Given the description of an element on the screen output the (x, y) to click on. 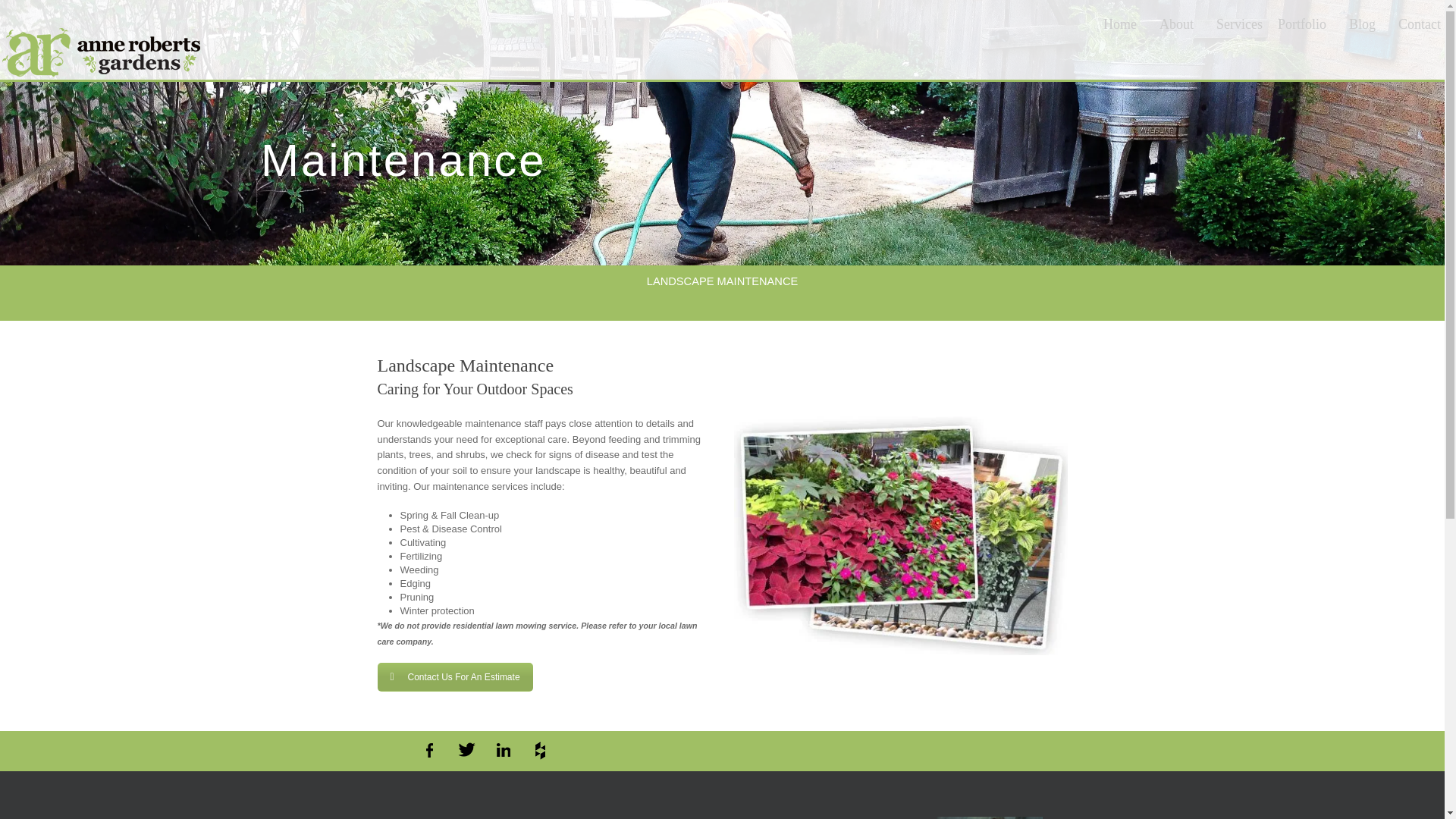
Services (1235, 33)
Contact Us For An Estimate (454, 676)
Portfolio (1302, 33)
Blog (1362, 33)
About (1176, 33)
Home (1120, 33)
Contact Us For An Estimate (454, 676)
